Given the description of an element on the screen output the (x, y) to click on. 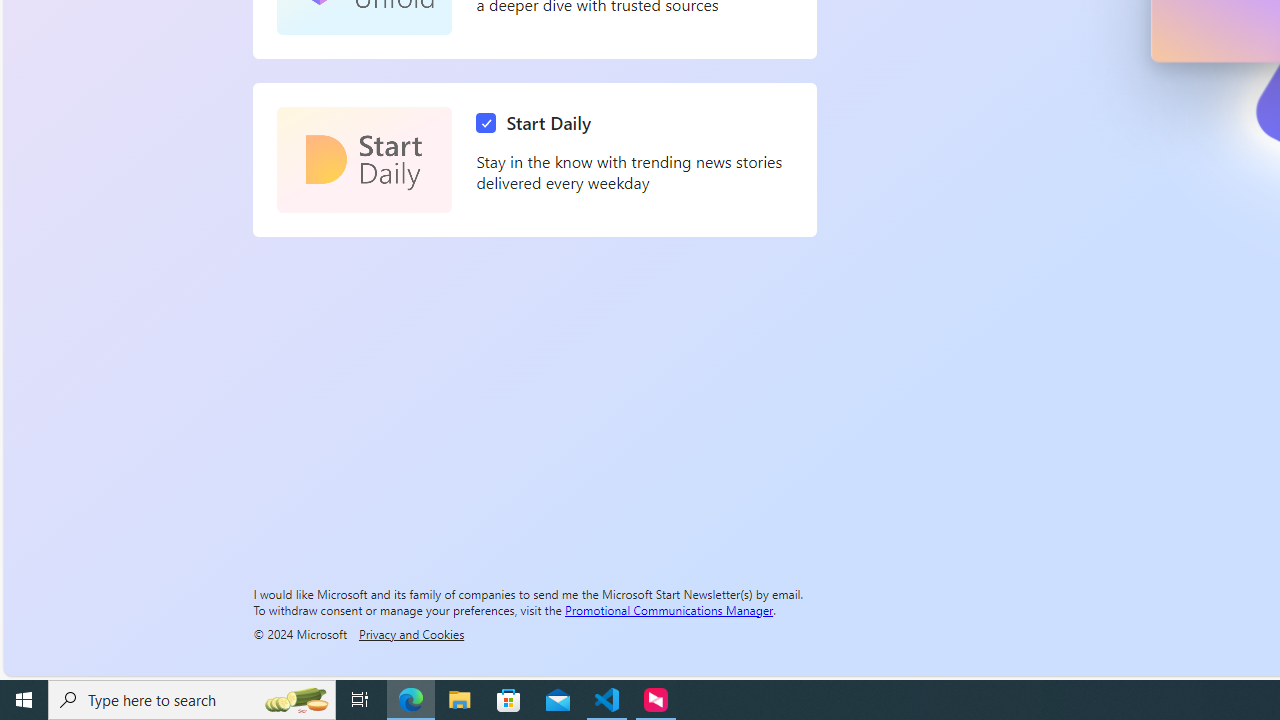
Privacy and Cookies (411, 633)
Start Daily (538, 123)
Promotional Communications Manager (669, 609)
Start Daily (364, 160)
